Given the description of an element on the screen output the (x, y) to click on. 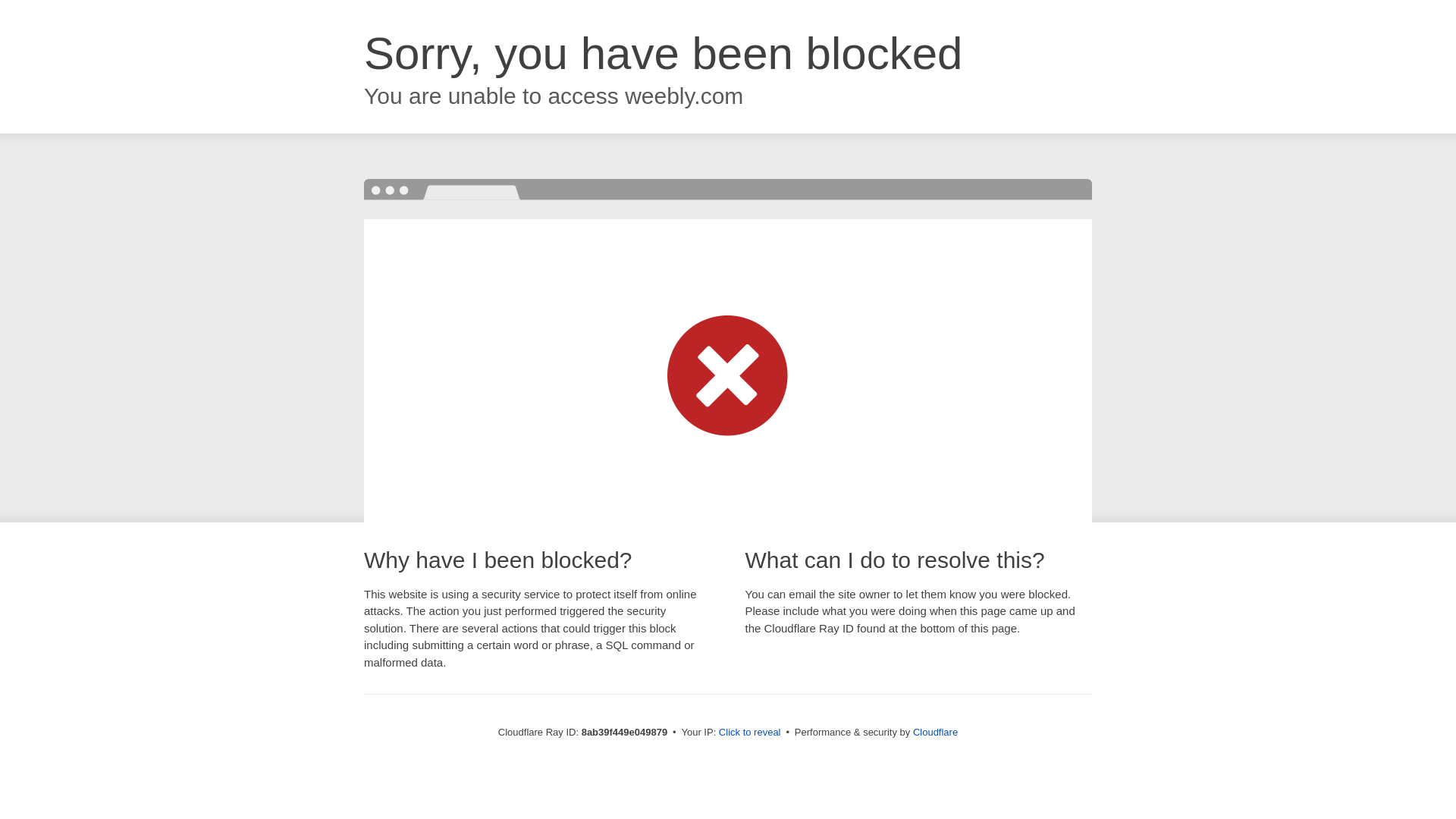
Click to reveal (749, 732)
Cloudflare (935, 731)
